Given the description of an element on the screen output the (x, y) to click on. 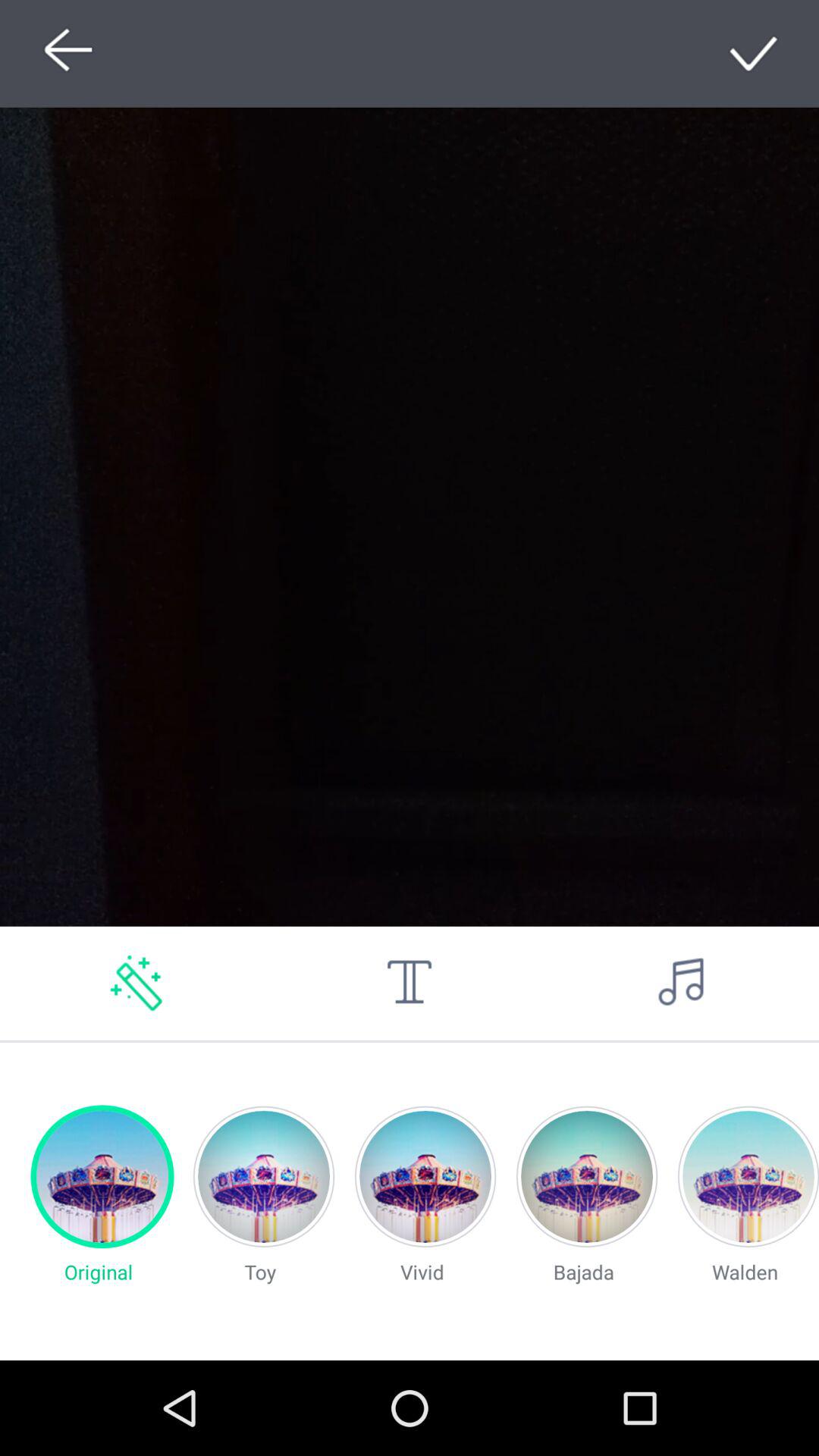
music selections (682, 983)
